Given the description of an element on the screen output the (x, y) to click on. 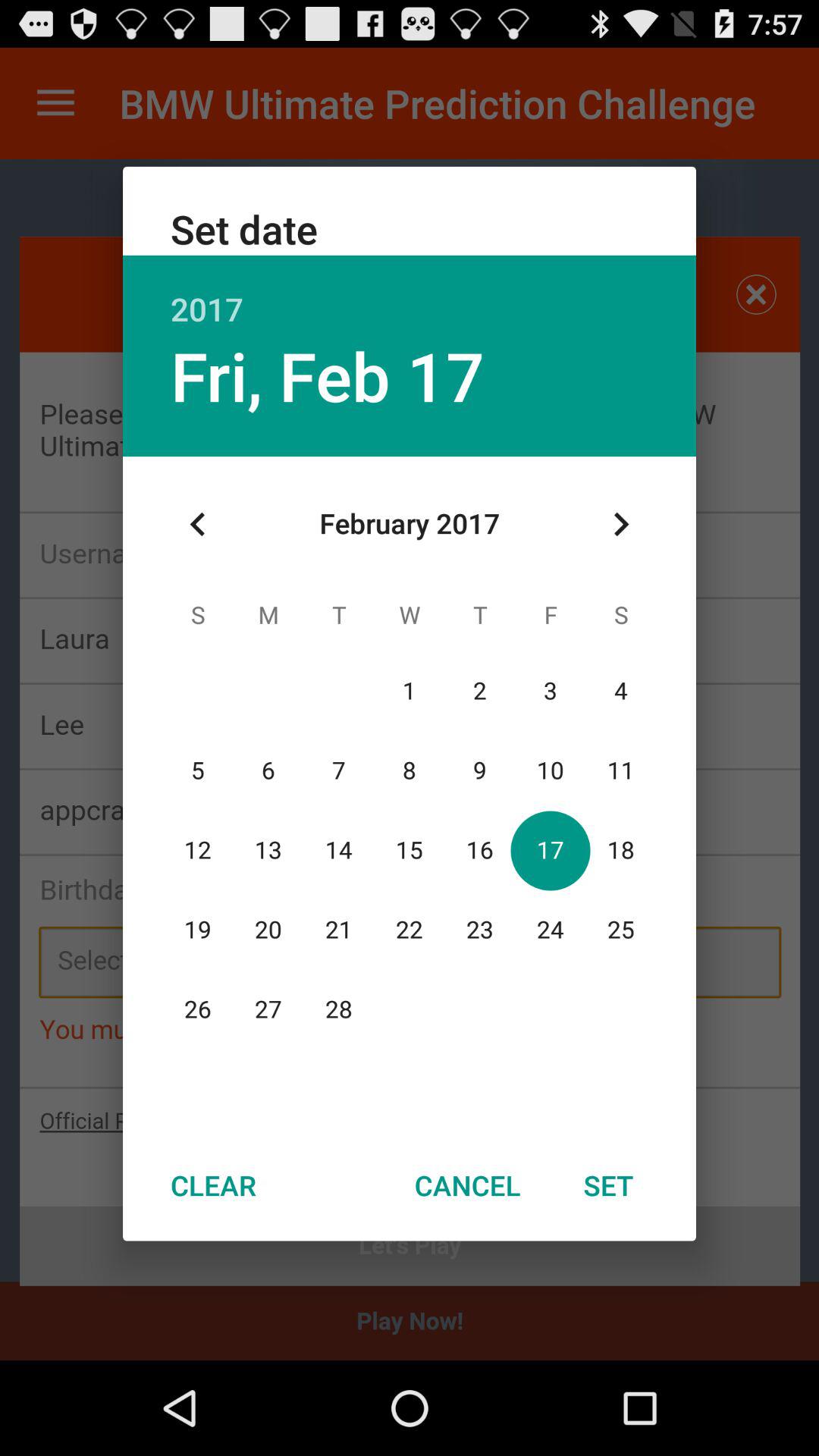
press the clear at the bottom left corner (213, 1185)
